Given the description of an element on the screen output the (x, y) to click on. 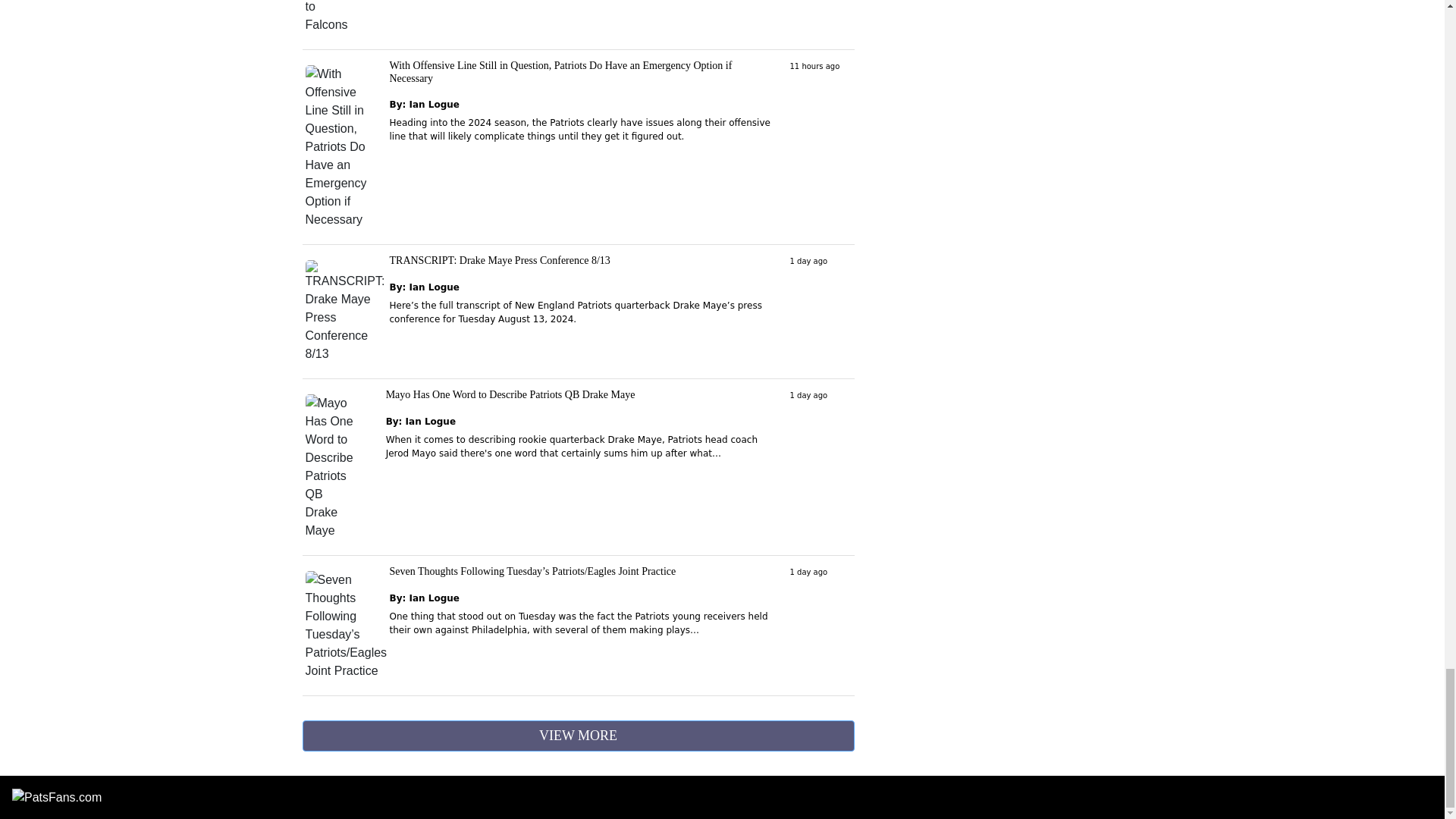
Ian Logue (433, 286)
Ian Logue (433, 104)
Mayo Has One Word to Describe Patriots QB Drake Maye (509, 394)
Ian Logue (430, 421)
